Given the description of an element on the screen output the (x, y) to click on. 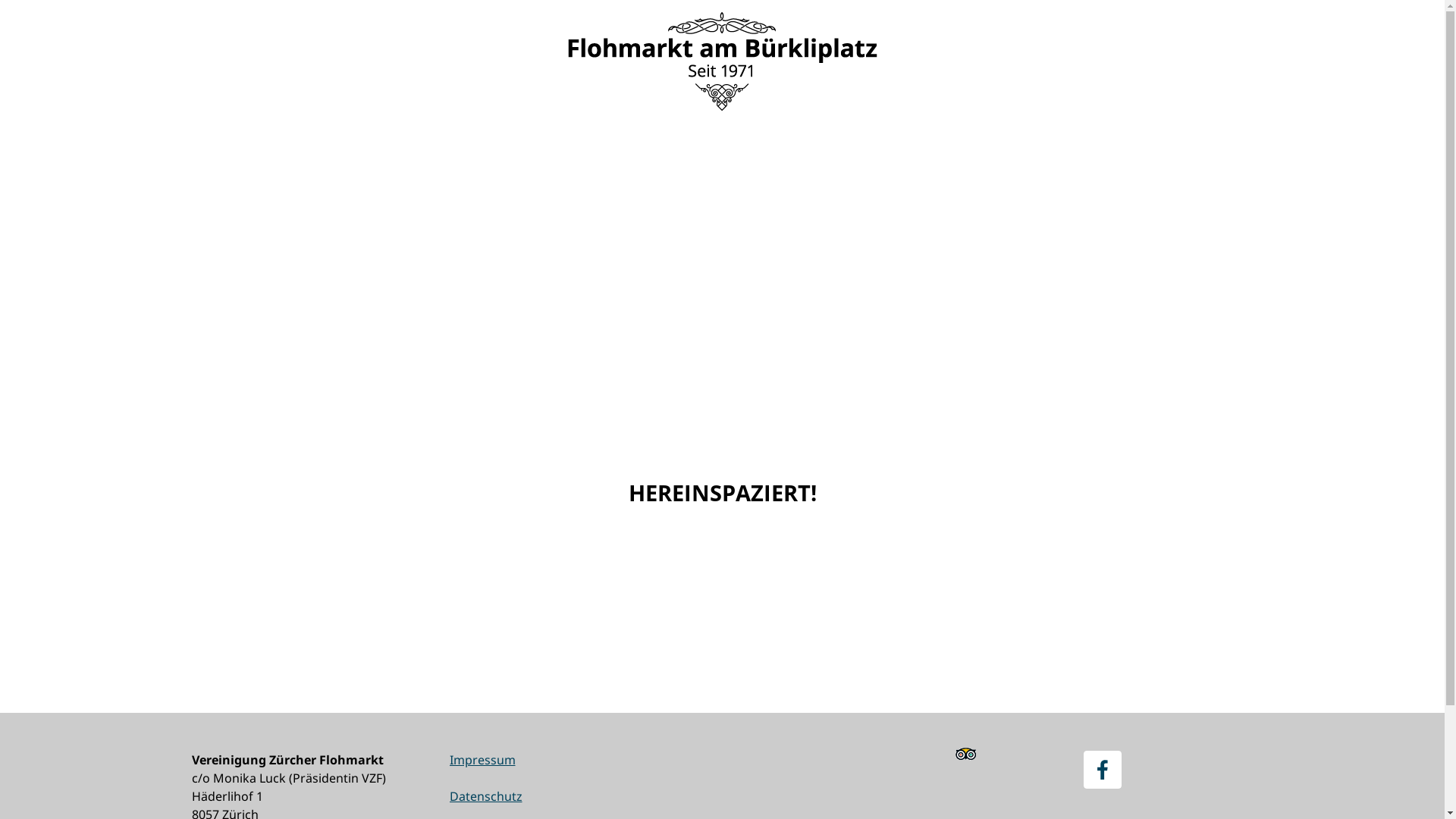
Datenschutz Element type: text (484, 795)
HEREINSPAZIERT! Element type: text (721, 492)
Impressum Element type: text (481, 759)
